Given the description of an element on the screen output the (x, y) to click on. 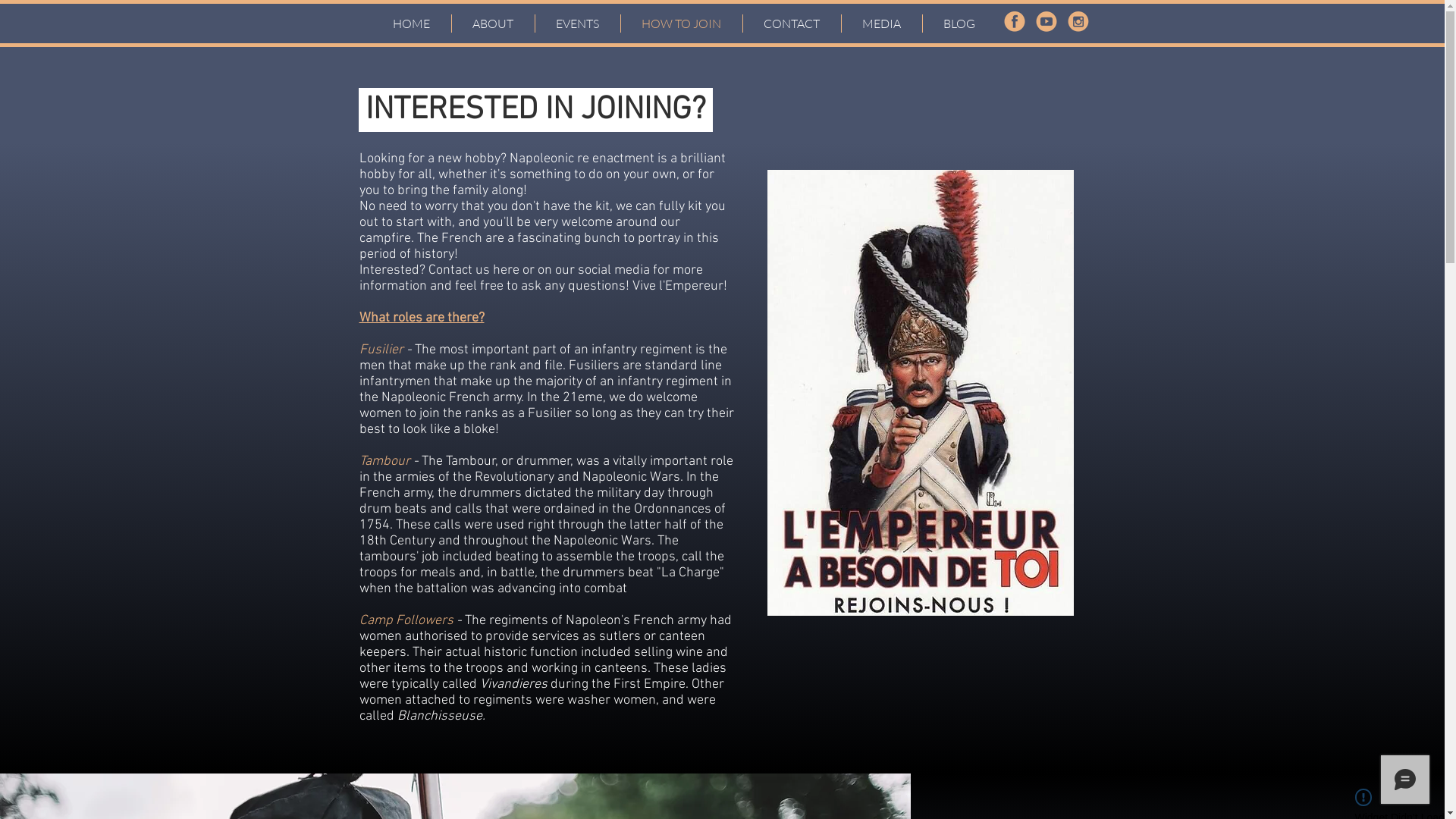
EVENTS Element type: text (577, 23)
MEDIA Element type: text (881, 23)
sutlers Element type: text (619, 636)
BLOG Element type: text (958, 23)
HOME Element type: text (410, 23)
CONTACT Element type: text (791, 23)
ABOUT Element type: text (492, 23)
HOW TO JOIN Element type: text (680, 23)
